Given the description of an element on the screen output the (x, y) to click on. 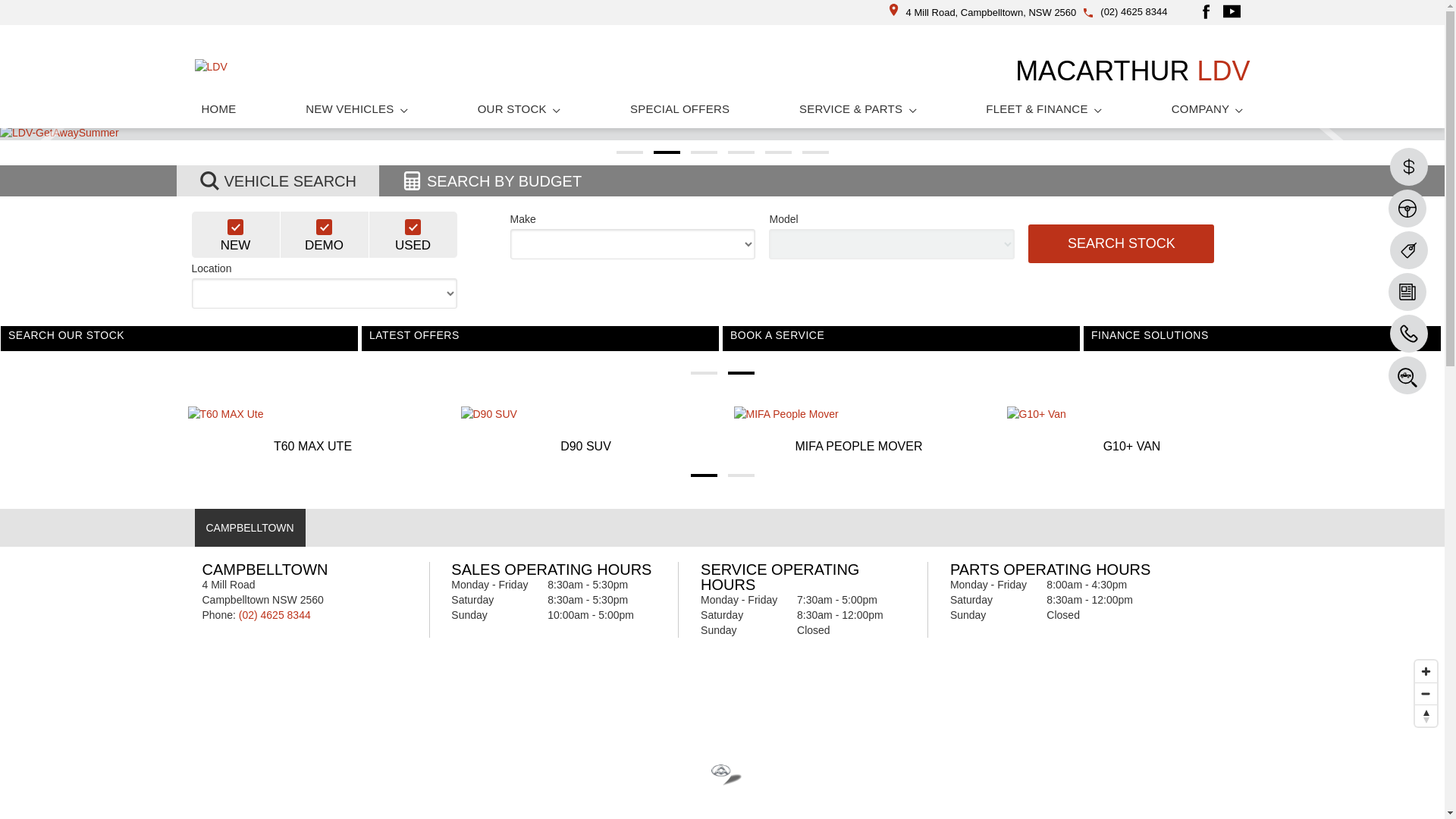
SEARCH STOCK Element type: text (1121, 243)
T60 MAX UTE Element type: text (313, 431)
FLEET & FINANCE Element type: text (1043, 108)
VEHICLE SEARCH Element type: text (277, 180)
SEARCH OUR STOCK Element type: text (539, 343)
NEW VEHICLES Element type: text (356, 108)
CAMPBELLTOWN Element type: text (249, 527)
MIFA PEOPLE MOVER Element type: text (859, 431)
LATEST OFFERS Element type: text (900, 343)
SPECIAL OFFERS Element type: text (679, 108)
G10+ VAN Element type: text (1132, 431)
(02) 4625 8344 Element type: text (274, 614)
4 Mill Road, Campbelltown, NSW 2560 Element type: text (982, 12)
Reset bearing to north Element type: hover (1426, 715)
HOME Element type: text (218, 108)
BOOK A SERVICE Element type: text (1261, 343)
OUR STOCK Element type: text (518, 108)
Zoom in Element type: hover (1426, 671)
SERVICE & PARTS Element type: text (857, 108)
COMPANY Element type: text (1207, 108)
VIEW THE RANGE Element type: text (178, 343)
(02) 4625 8344 Element type: text (1133, 11)
D90 SUV Element type: text (586, 431)
SEARCH BY BUDGET Element type: text (491, 180)
Zoom out Element type: hover (1426, 693)
